Given the description of an element on the screen output the (x, y) to click on. 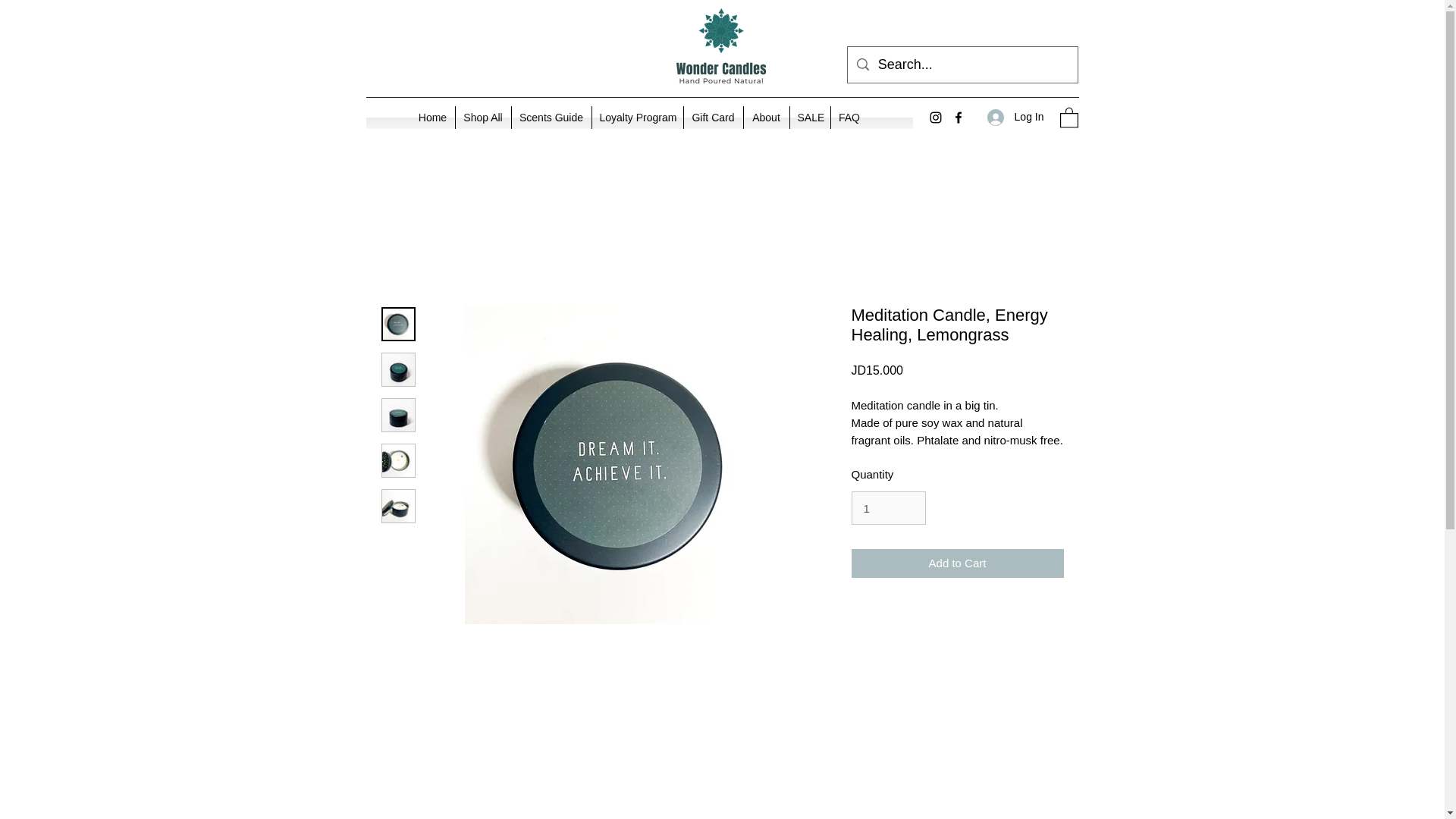
Loyalty Program (636, 117)
Shop All (482, 117)
1 (887, 507)
SALE (809, 117)
Home (432, 117)
Log In (1015, 117)
Gift Card (713, 117)
Scents Guide (551, 117)
Add to Cart (956, 563)
About (765, 117)
FAQ (849, 117)
